Given the description of an element on the screen output the (x, y) to click on. 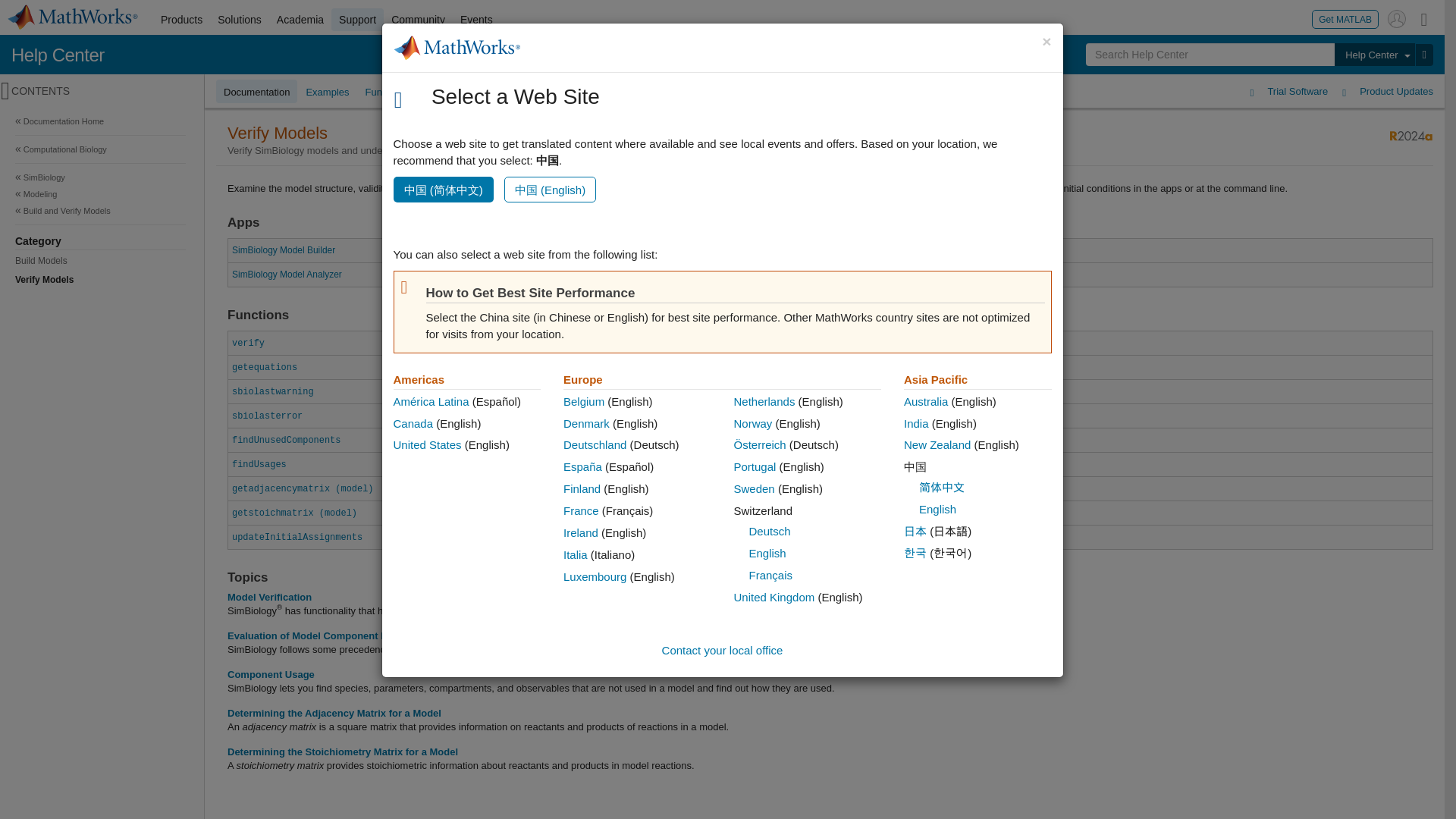
Sign In to Your MathWorks Account (1396, 18)
Support (357, 19)
Get MATLAB (1344, 18)
Products (180, 19)
Academia (300, 19)
Community (418, 19)
Events (476, 19)
Matrix Menu (1423, 18)
Solutions (239, 19)
